Given the description of an element on the screen output the (x, y) to click on. 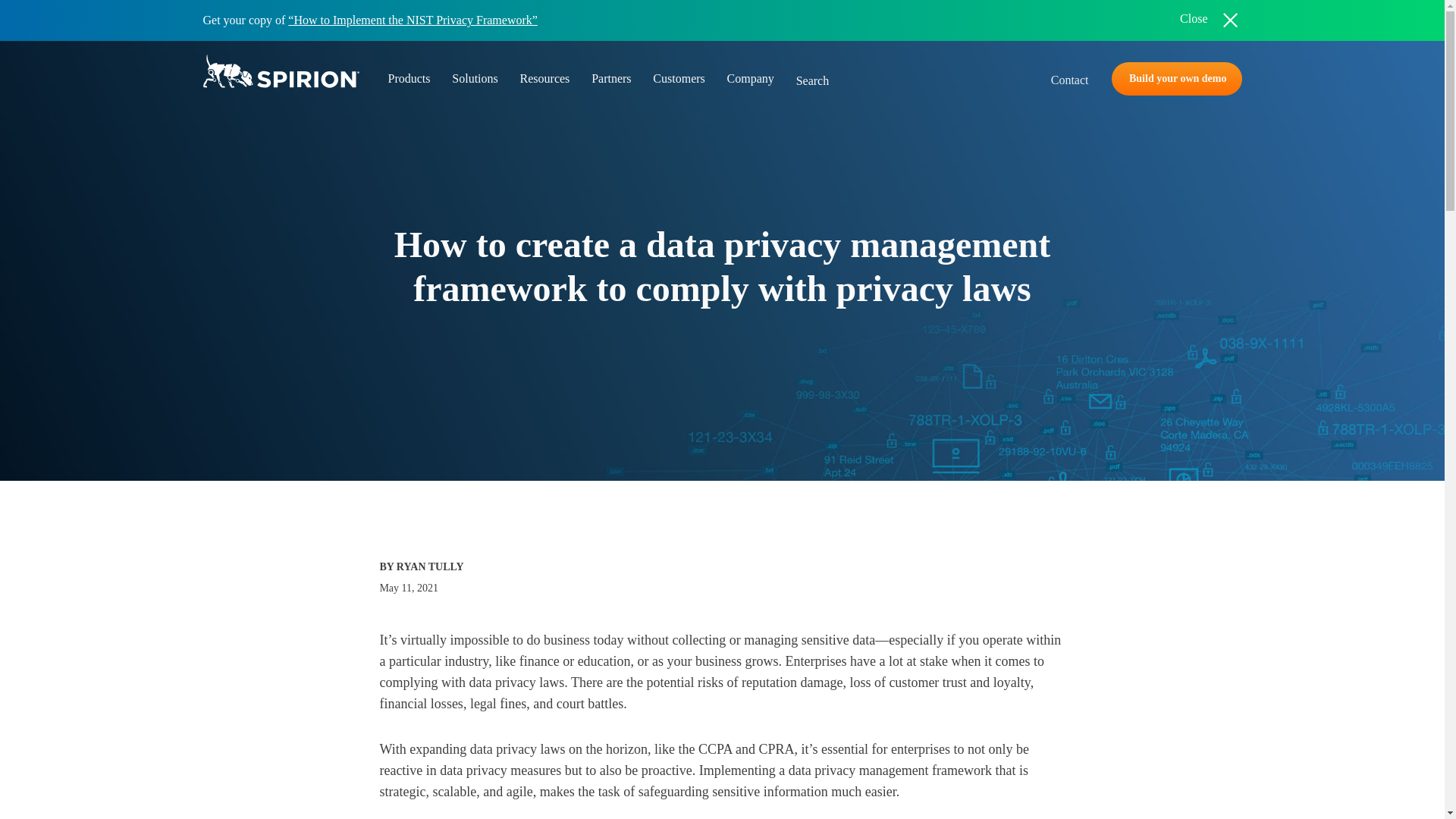
Close (1208, 20)
Close Banner (1208, 20)
